Given the description of an element on the screen output the (x, y) to click on. 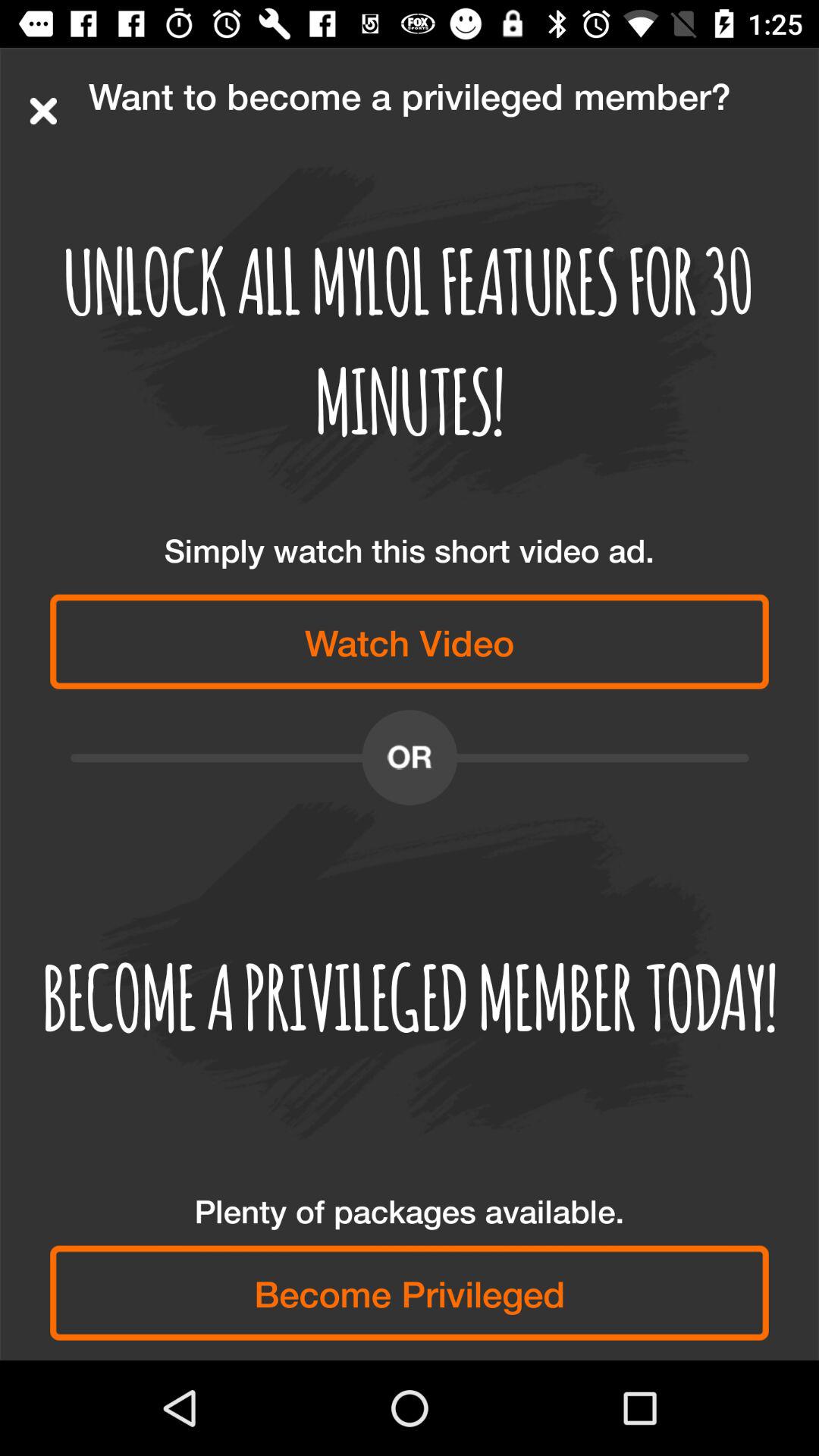
choose item next to the want to become item (43, 110)
